Given the description of an element on the screen output the (x, y) to click on. 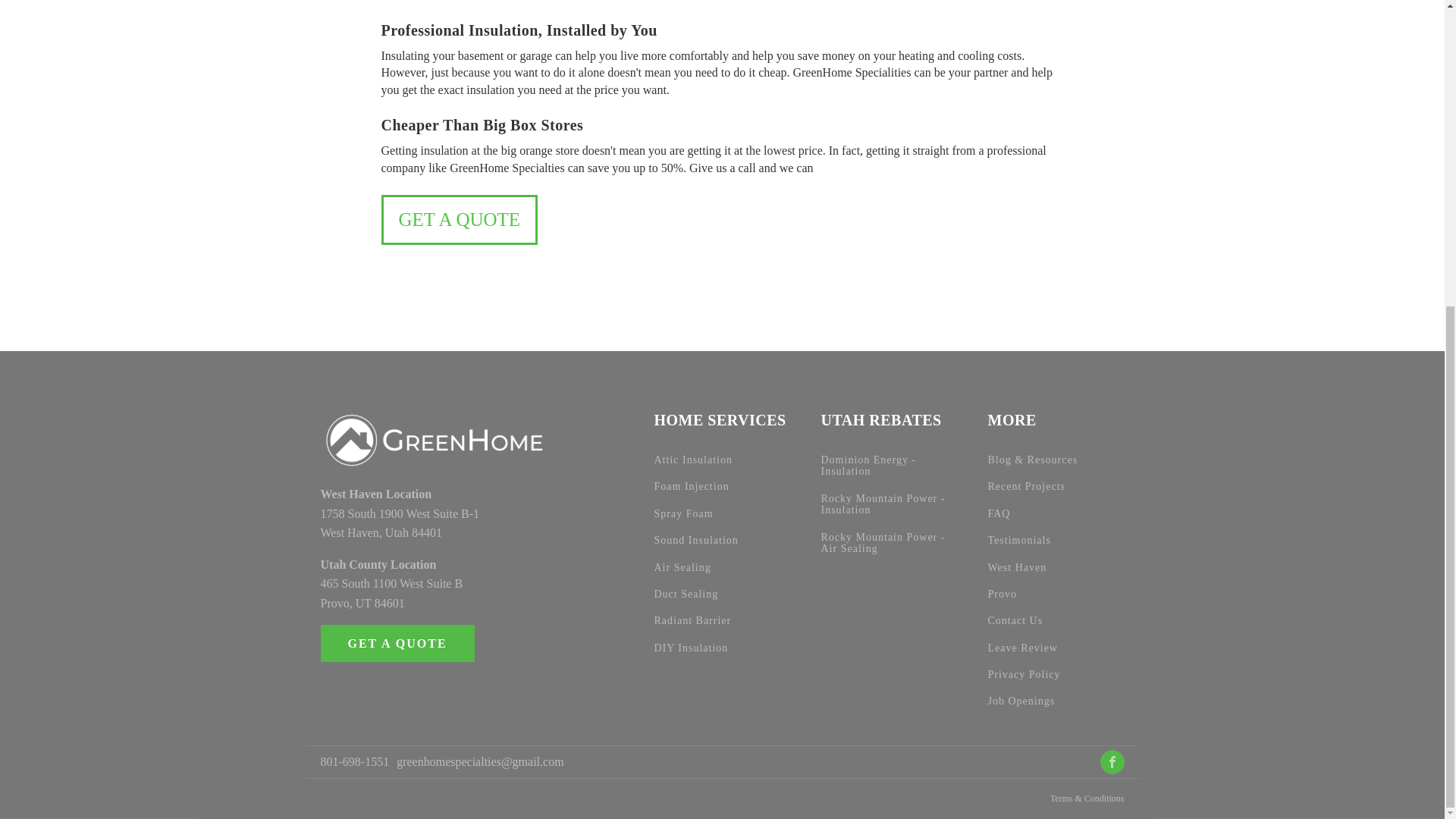
Testimonials (1018, 540)
DIY Insulation (690, 647)
Rocky Mountain Power - Air Sealing (888, 543)
Foam Injection (691, 486)
Contact Us (1014, 620)
FAQ (998, 513)
Radiant Barrier (691, 620)
West Haven (1016, 567)
Dominion Energy - Insulation (888, 465)
GET A QUOTE (458, 219)
